Given the description of an element on the screen output the (x, y) to click on. 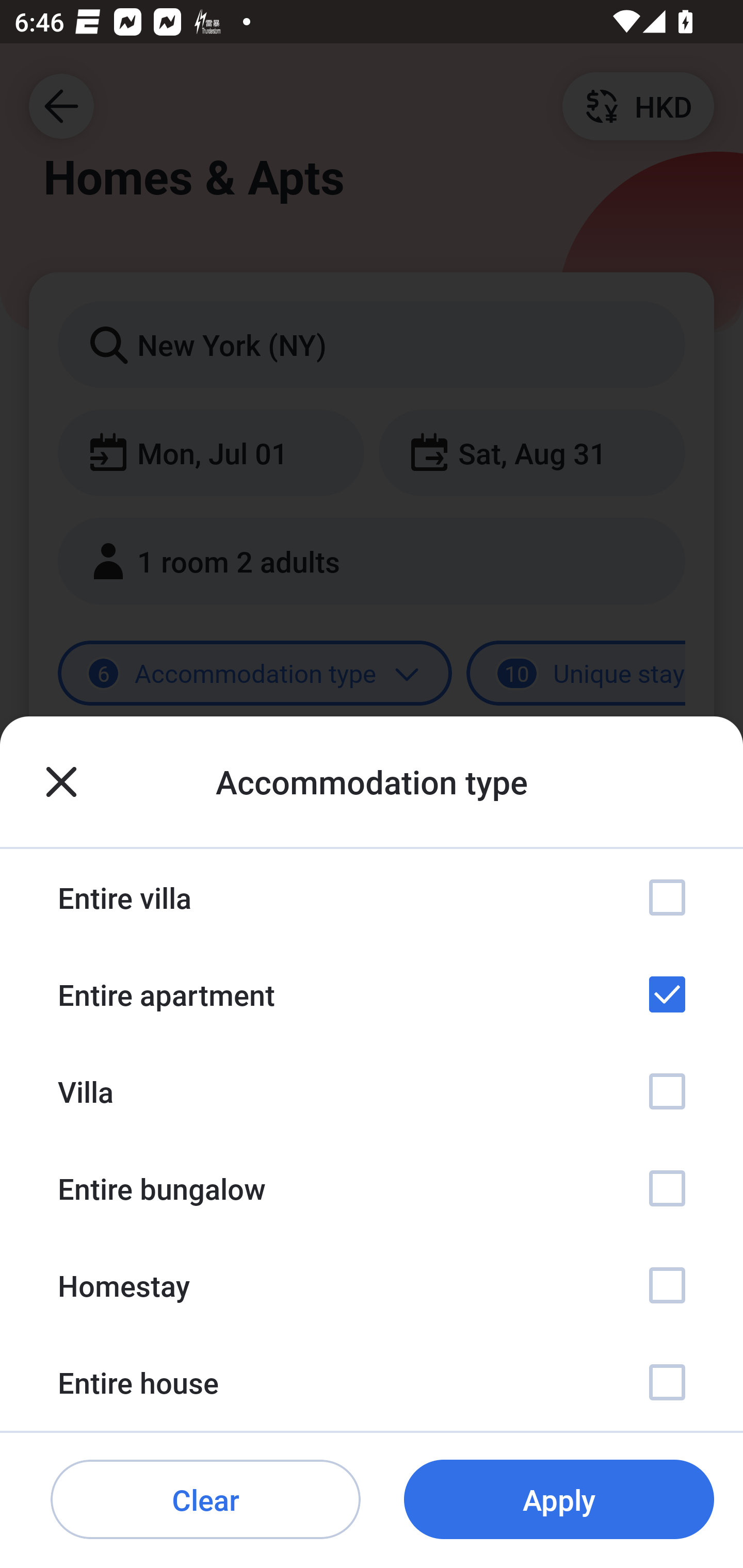
Entire villa (371, 897)
Entire apartment (371, 994)
Villa (371, 1091)
Entire bungalow (371, 1188)
Homestay (371, 1284)
Entire house (371, 1382)
Clear (205, 1499)
Apply (559, 1499)
